Given the description of an element on the screen output the (x, y) to click on. 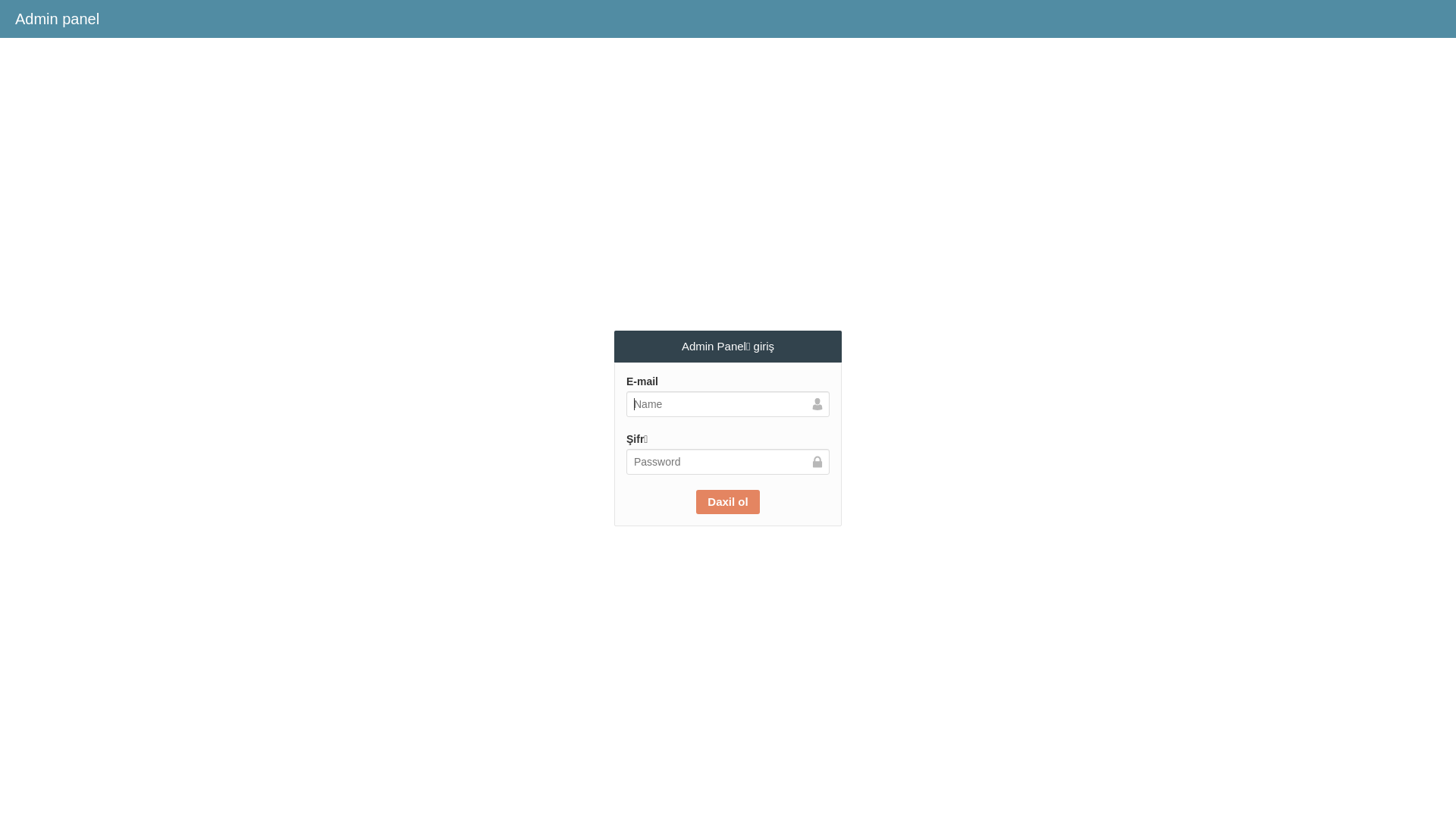
Admin panel Element type: text (57, 18)
Daxil ol Element type: text (727, 501)
